Given the description of an element on the screen output the (x, y) to click on. 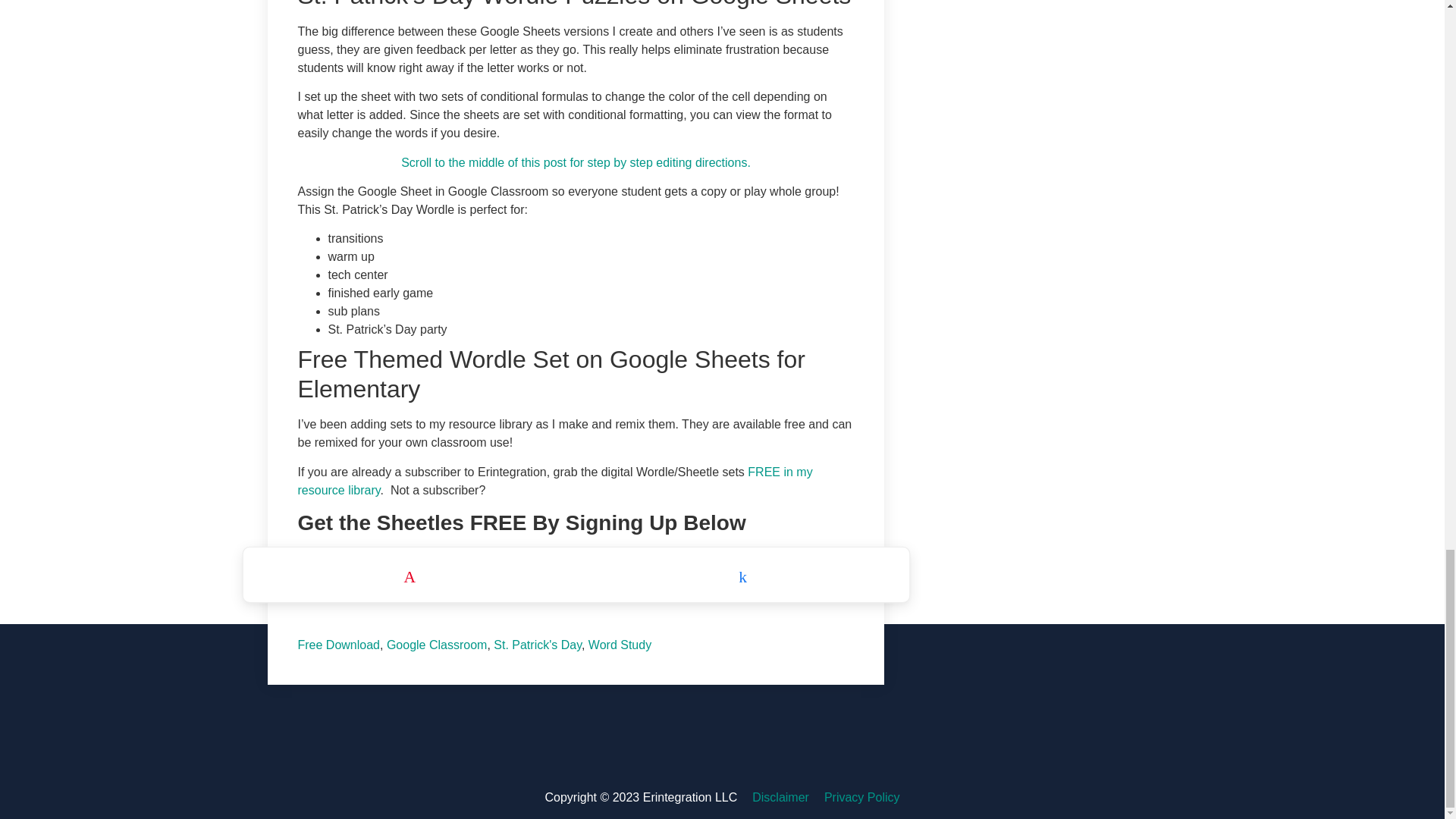
Free Download (338, 644)
FREE in my resource library (554, 481)
St. Patrick's Day (536, 644)
Google Classroom (437, 644)
Word Study (619, 644)
